Given the description of an element on the screen output the (x, y) to click on. 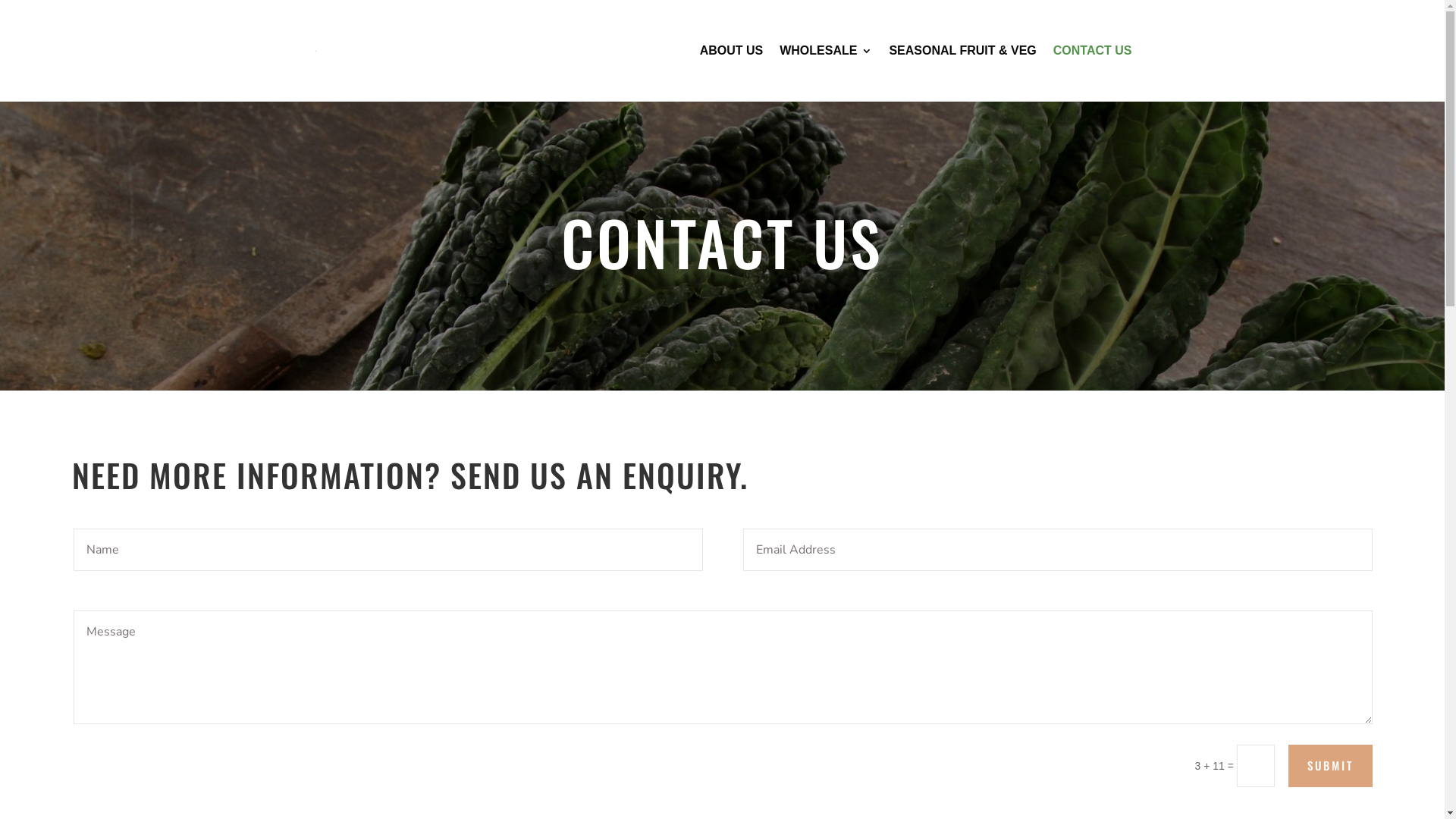
WHOLESALE Element type: text (825, 73)
ABOUT US Element type: text (731, 73)
SEASONAL FRUIT & VEG Element type: text (961, 73)
CONTACT US Element type: text (1092, 73)
SUBMIT Element type: text (1330, 765)
